Given the description of an element on the screen output the (x, y) to click on. 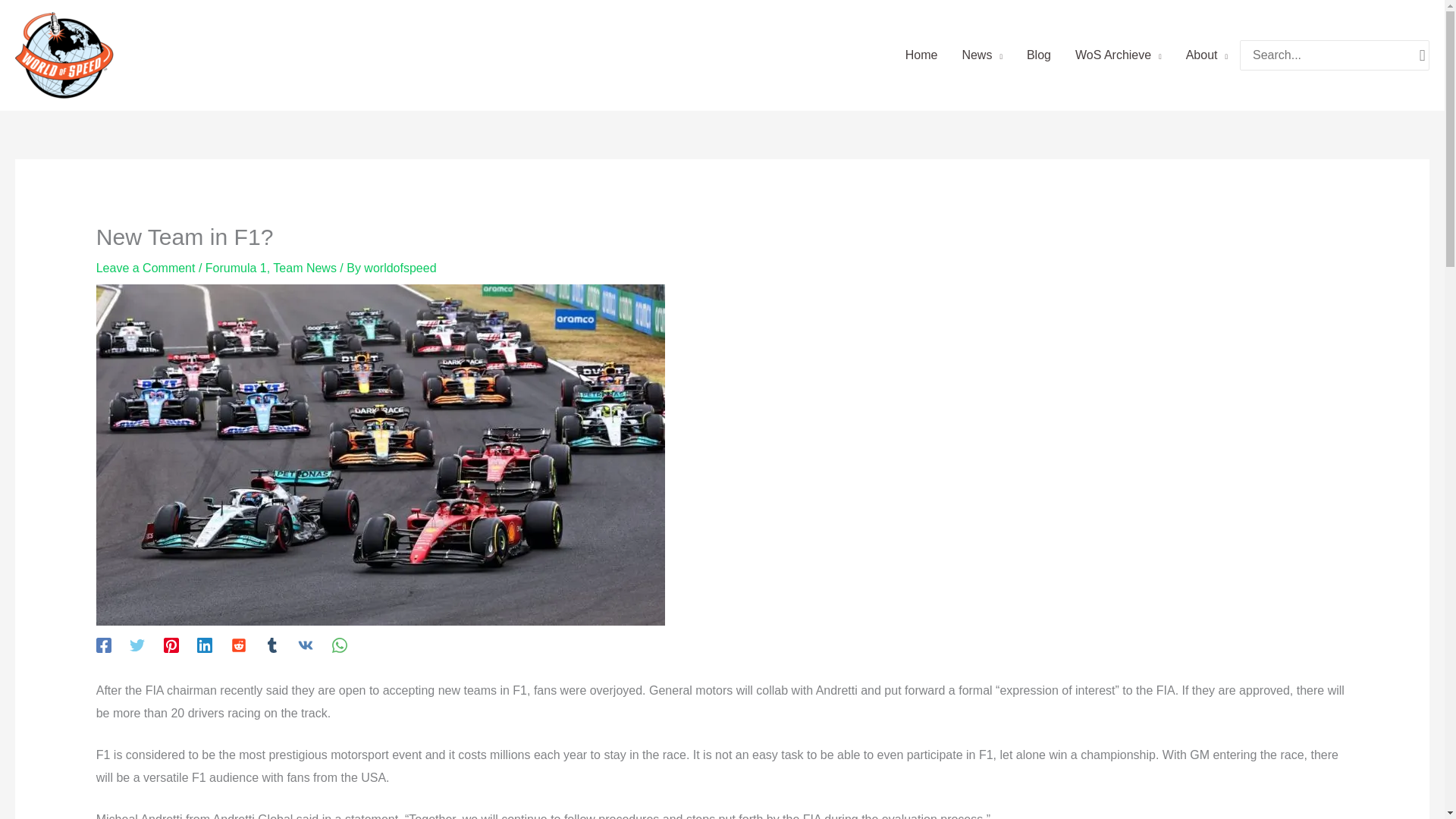
About (1206, 54)
Home (921, 54)
Blog (1038, 54)
WoS Archieve (1117, 54)
View all posts by worldofspeed (399, 267)
News (981, 54)
